Given the description of an element on the screen output the (x, y) to click on. 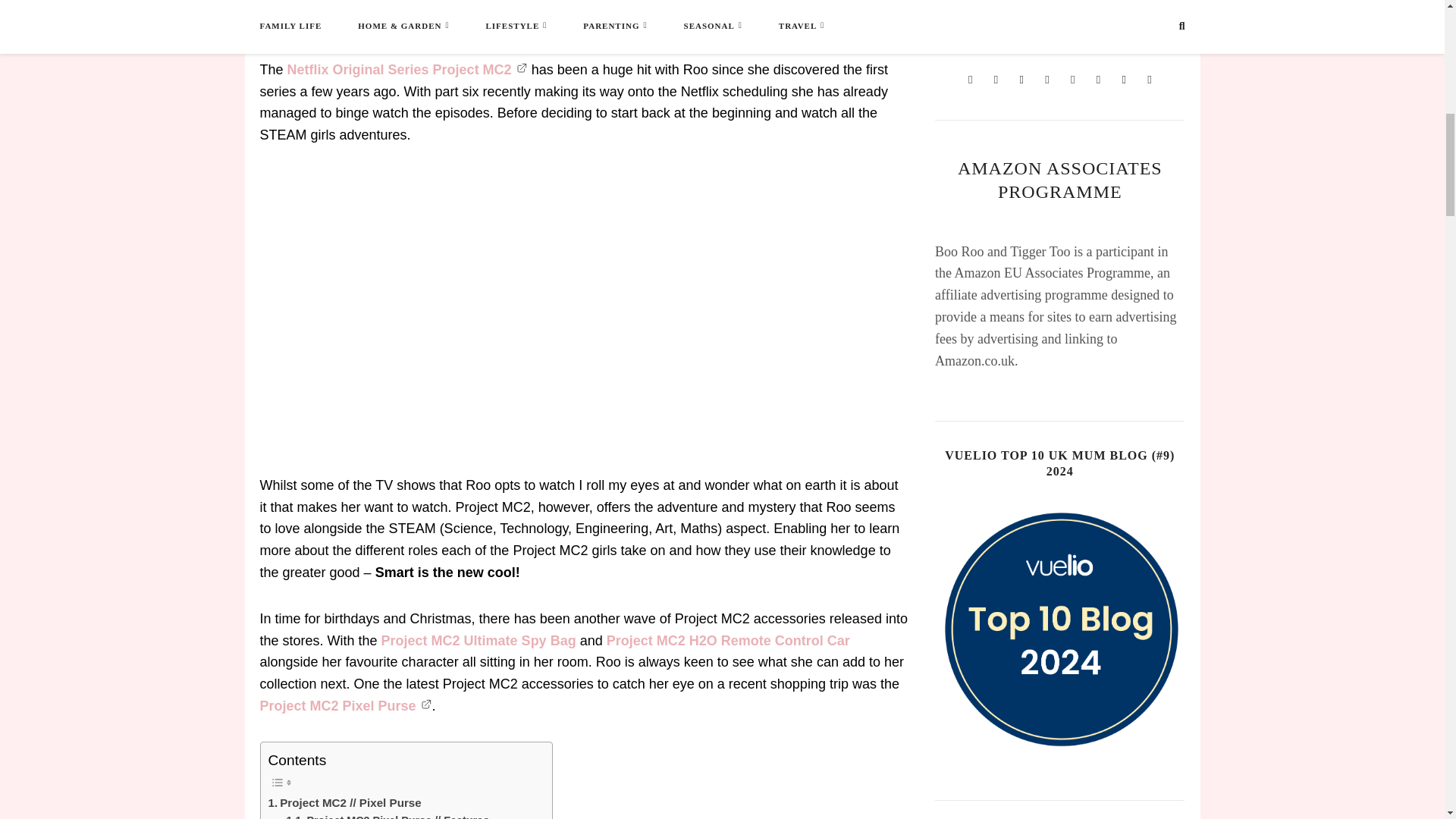
Save to Pinterest (760, 21)
Share on Facebook (354, 21)
Share on X (557, 21)
